Given the description of an element on the screen output the (x, y) to click on. 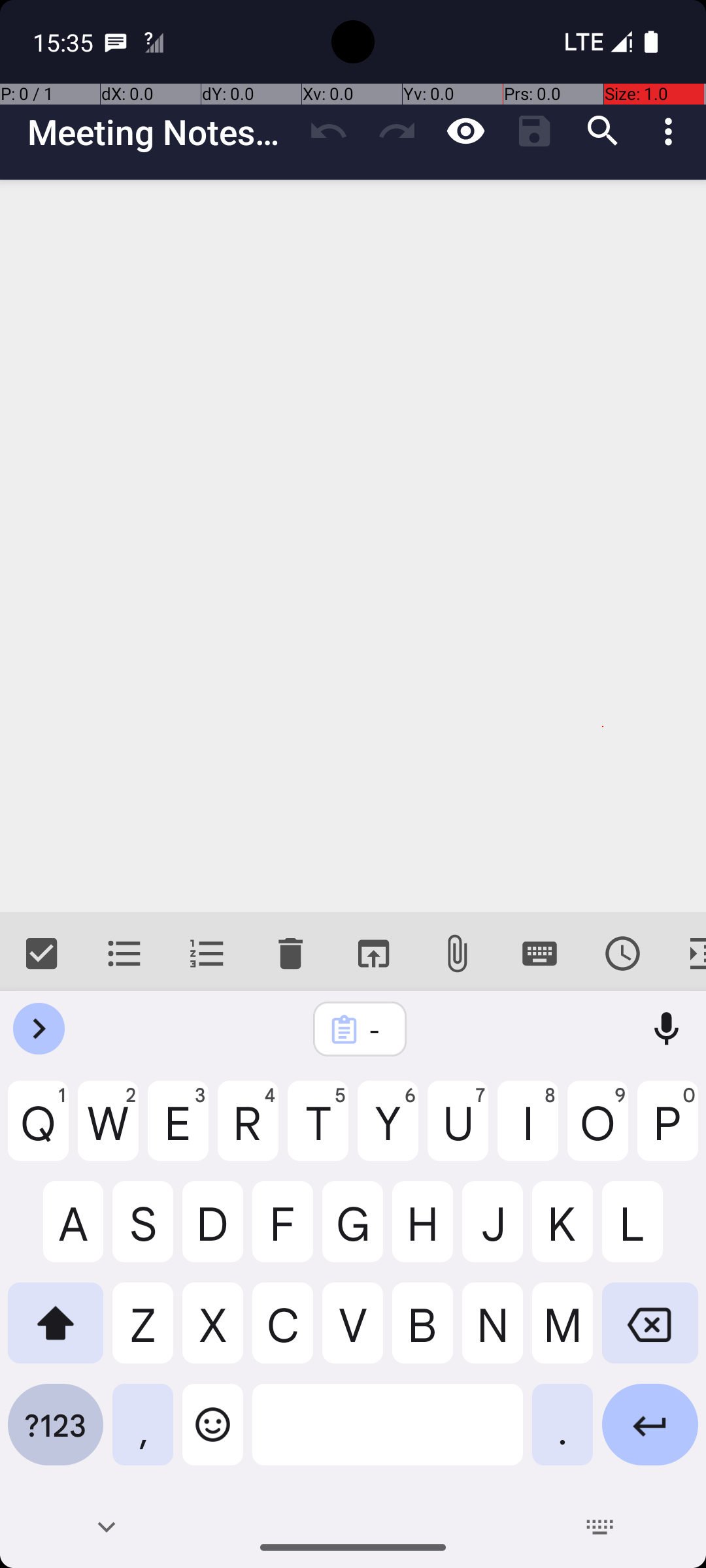
Meeting Notes for Project Update Element type: android.widget.TextView (160, 131)
-  Element type: android.widget.TextView (376, 1029)
